Given the description of an element on the screen output the (x, y) to click on. 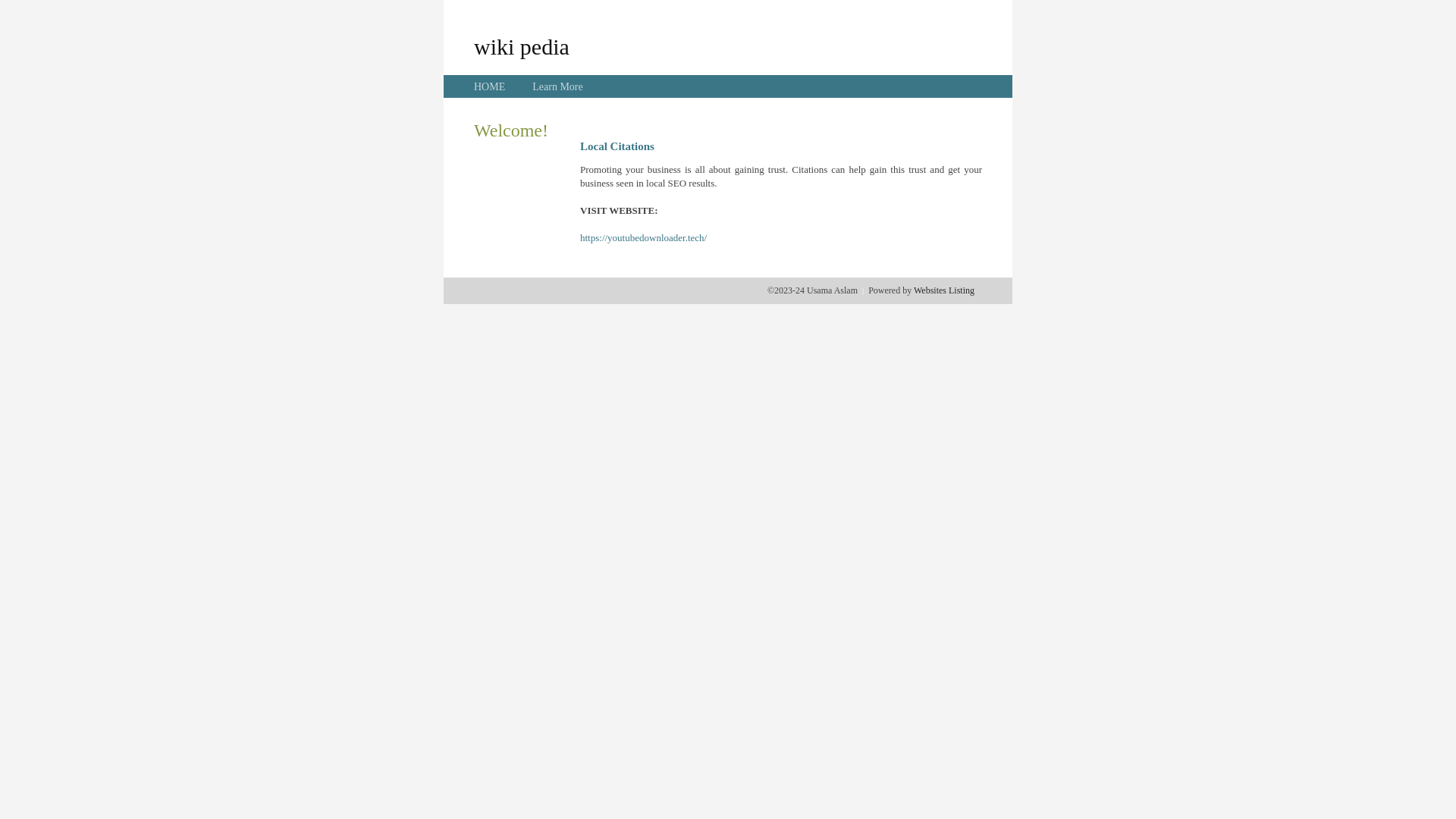
HOME Element type: text (489, 86)
https://youtubedownloader.tech/ Element type: text (643, 237)
Websites Listing Element type: text (943, 290)
Learn More Element type: text (557, 86)
wiki pedia Element type: text (521, 46)
